Given the description of an element on the screen output the (x, y) to click on. 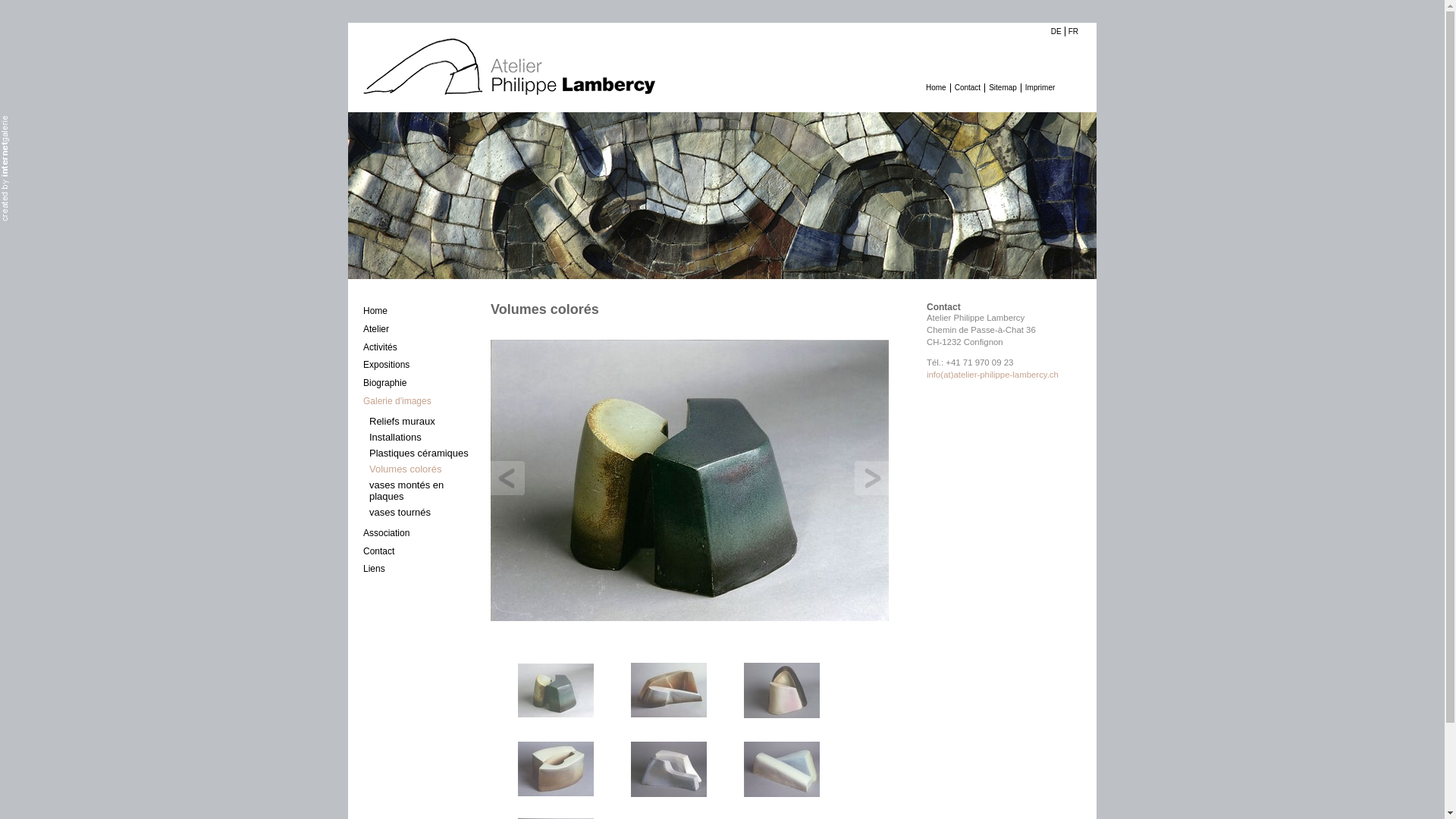
Liens Element type: text (419, 568)
DE Element type: text (1056, 31)
Home Element type: text (419, 310)
Association Element type: text (419, 533)
Biographie Element type: text (419, 382)
Expositions Element type: text (419, 364)
Installations Element type: text (419, 437)
Sitemap Element type: text (1002, 87)
info(at)atelier-philippe-lambercy.ch Element type: text (992, 374)
Contact Element type: text (967, 87)
Imprimer Element type: text (1039, 87)
Atelier Element type: text (419, 329)
Reliefs muraux Element type: text (419, 421)
Galerie d'images Element type: text (419, 401)
Contact Element type: text (419, 551)
TYPO3 Agentur Bern, Thun, ganze Schweiz Element type: hover (5, 167)
Open Image Element type: hover (689, 477)
Atelier Philippe Lambercy Element type: hover (508, 68)
Home Element type: text (935, 87)
